Given the description of an element on the screen output the (x, y) to click on. 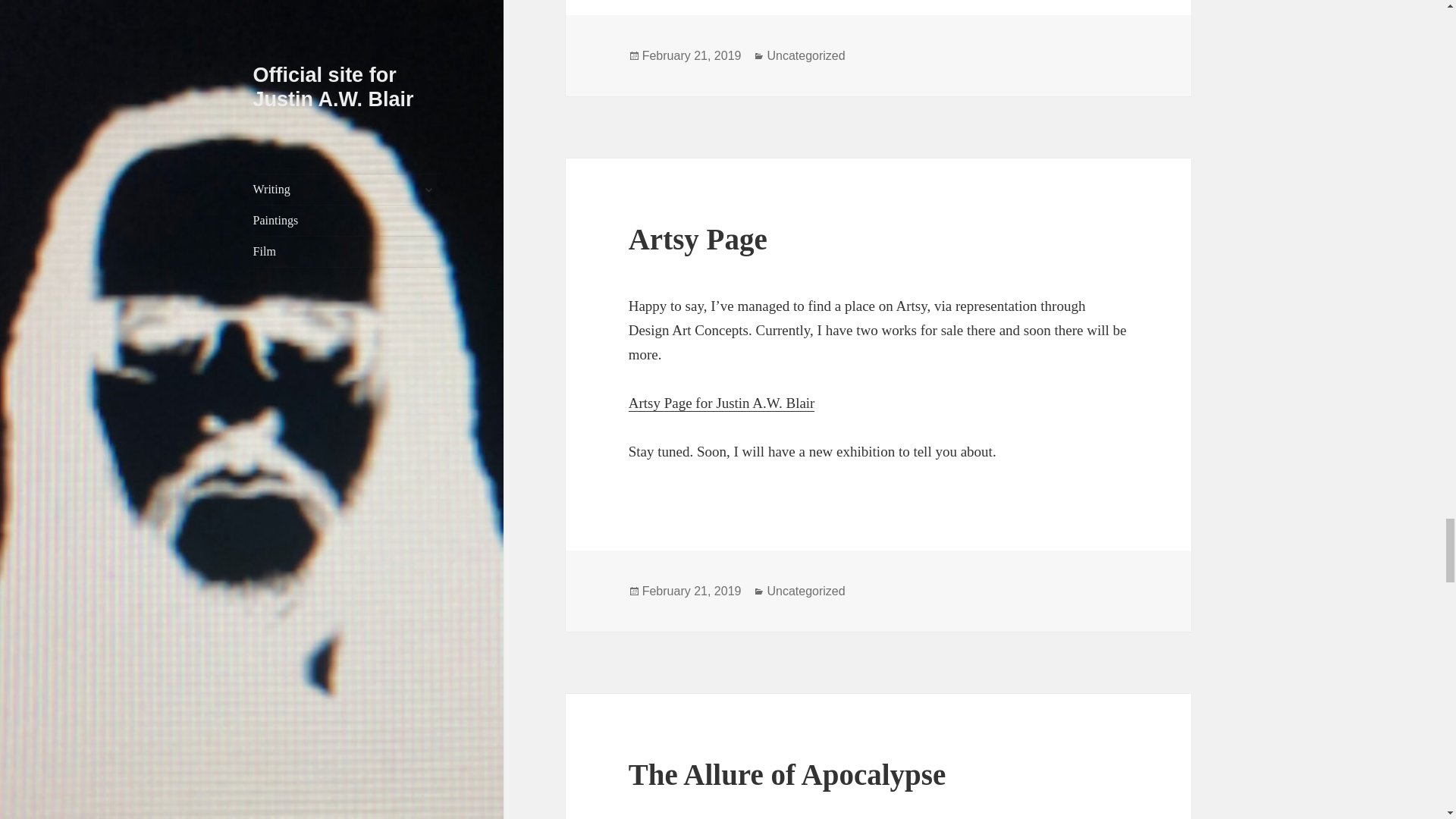
The Allure of Apocalypse (787, 774)
Uncategorized (805, 56)
Uncategorized (805, 591)
February 21, 2019 (691, 591)
Artsy Page (697, 238)
Artsy Page for Justin A.W. Blair (721, 402)
February 21, 2019 (691, 56)
